Given the description of an element on the screen output the (x, y) to click on. 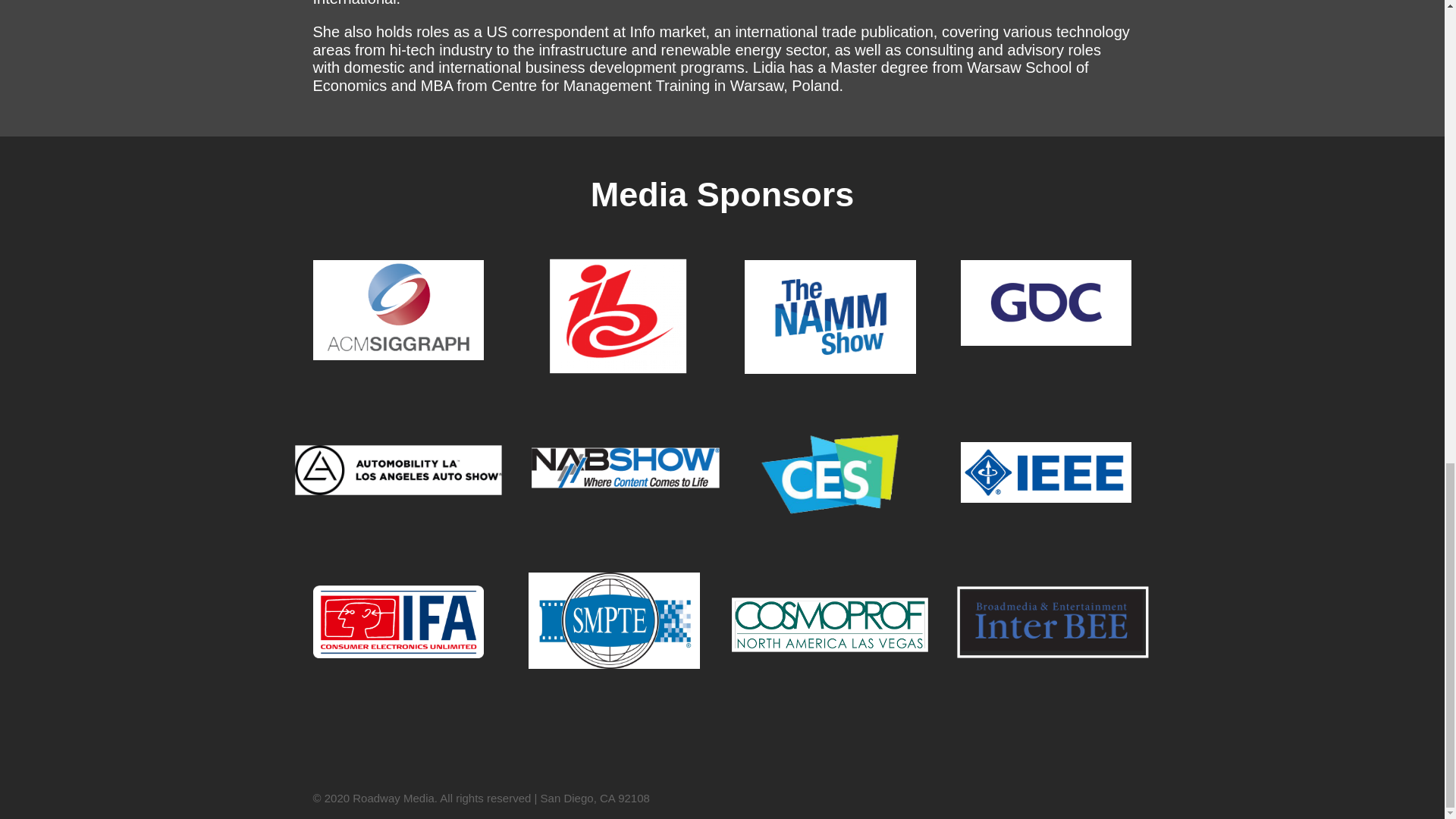
Auto (380, 465)
NabShow (616, 465)
SMPTE (613, 620)
